Given the description of an element on the screen output the (x, y) to click on. 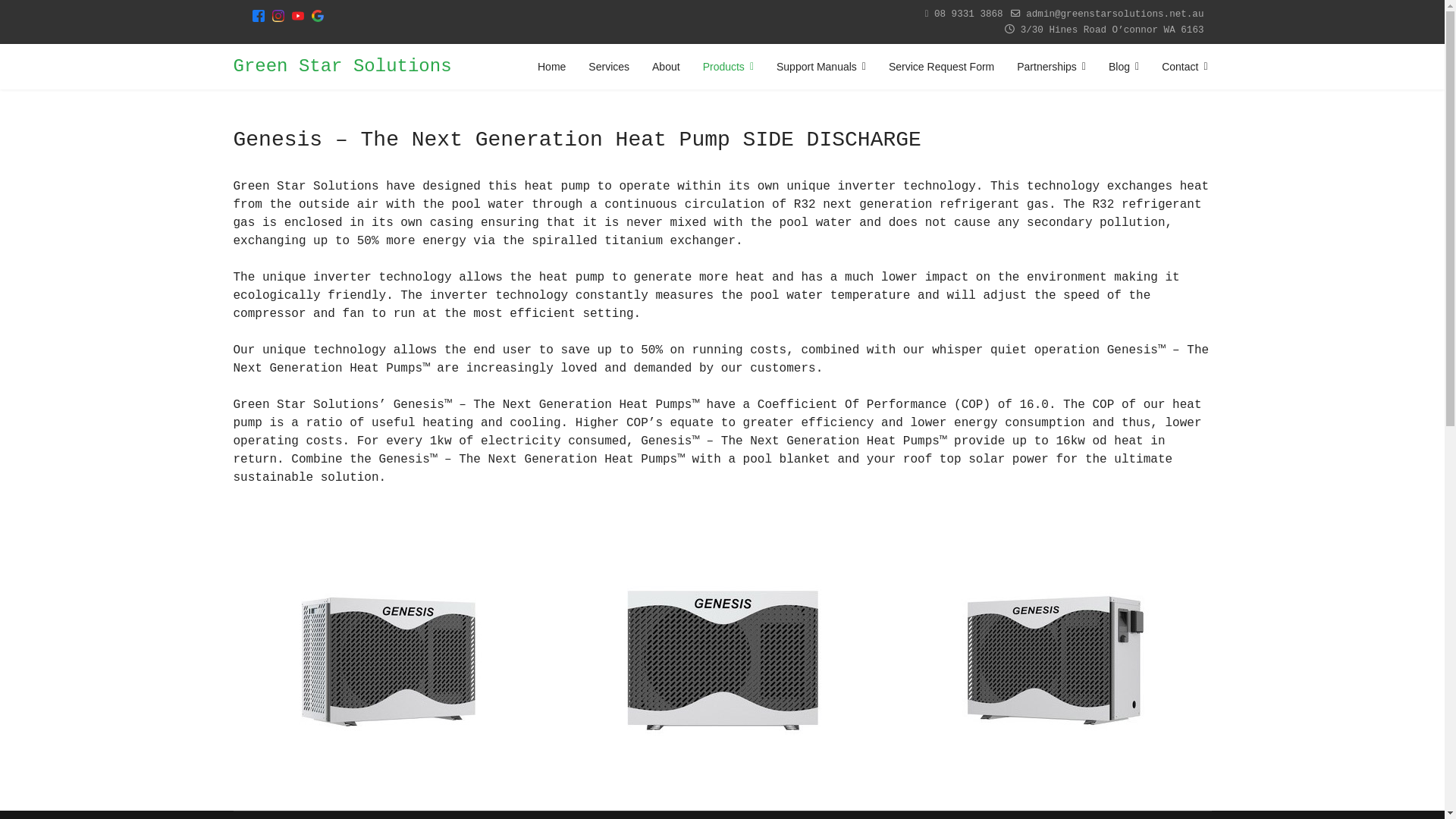
08 9331 3868 Element type: text (968, 14)
Blog Element type: text (1123, 66)
Contact Element type: text (1178, 66)
Products Element type: text (728, 66)
Services Element type: text (608, 66)
Green Star Solutions Element type: text (342, 66)
Home Element type: text (551, 66)
Support Manuals Element type: text (821, 66)
About Element type: text (665, 66)
Service Request Form Element type: text (941, 66)
Partnerships Element type: text (1051, 66)
admin@greenstarsolutions.net.au Element type: text (1114, 14)
